Given the description of an element on the screen output the (x, y) to click on. 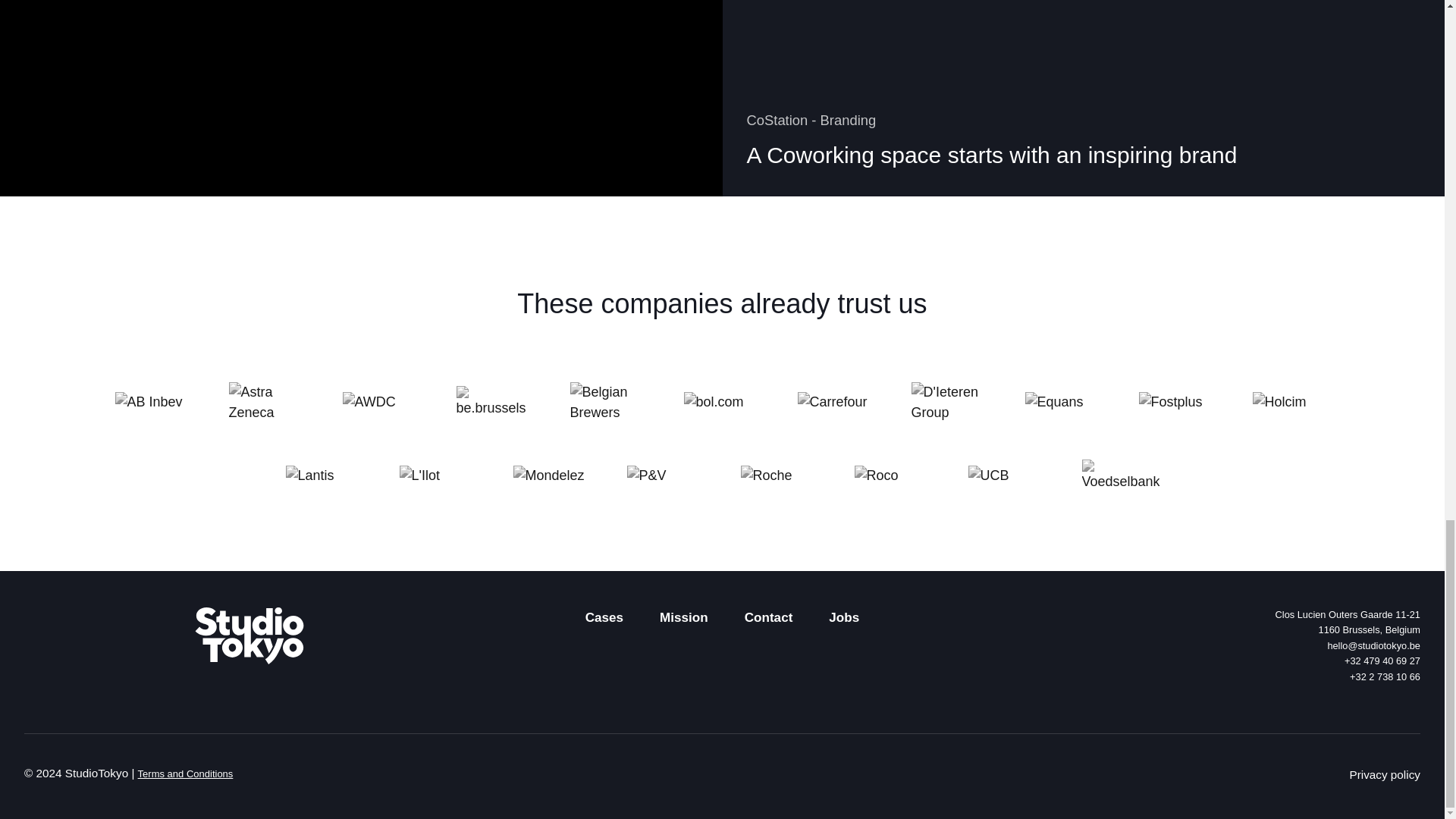
Mission (683, 623)
Google Maps (1195, 622)
Cases (1195, 622)
Terms and Conditions (604, 623)
Contact (185, 773)
Privacy policy (768, 623)
Jobs (1385, 774)
